Given the description of an element on the screen output the (x, y) to click on. 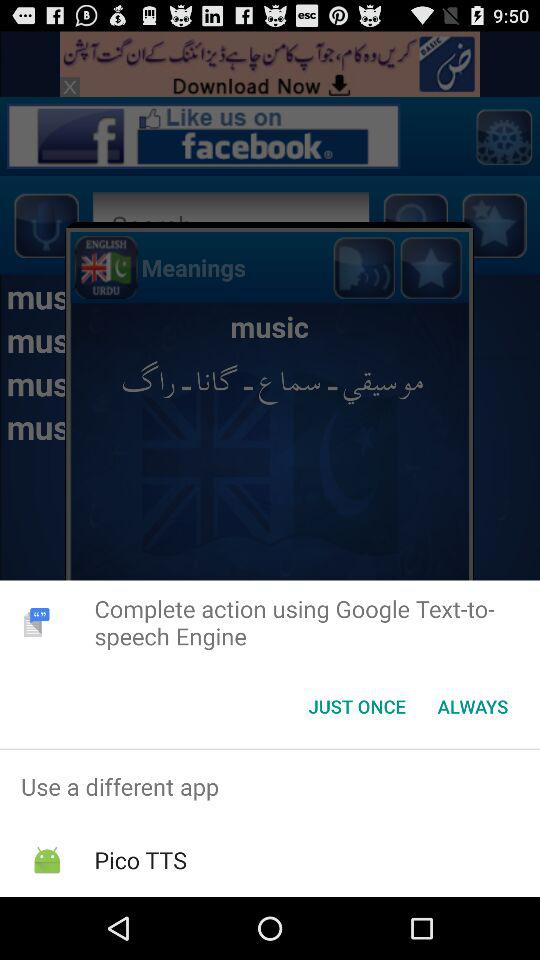
turn off the pico tts app (140, 860)
